Given the description of an element on the screen output the (x, y) to click on. 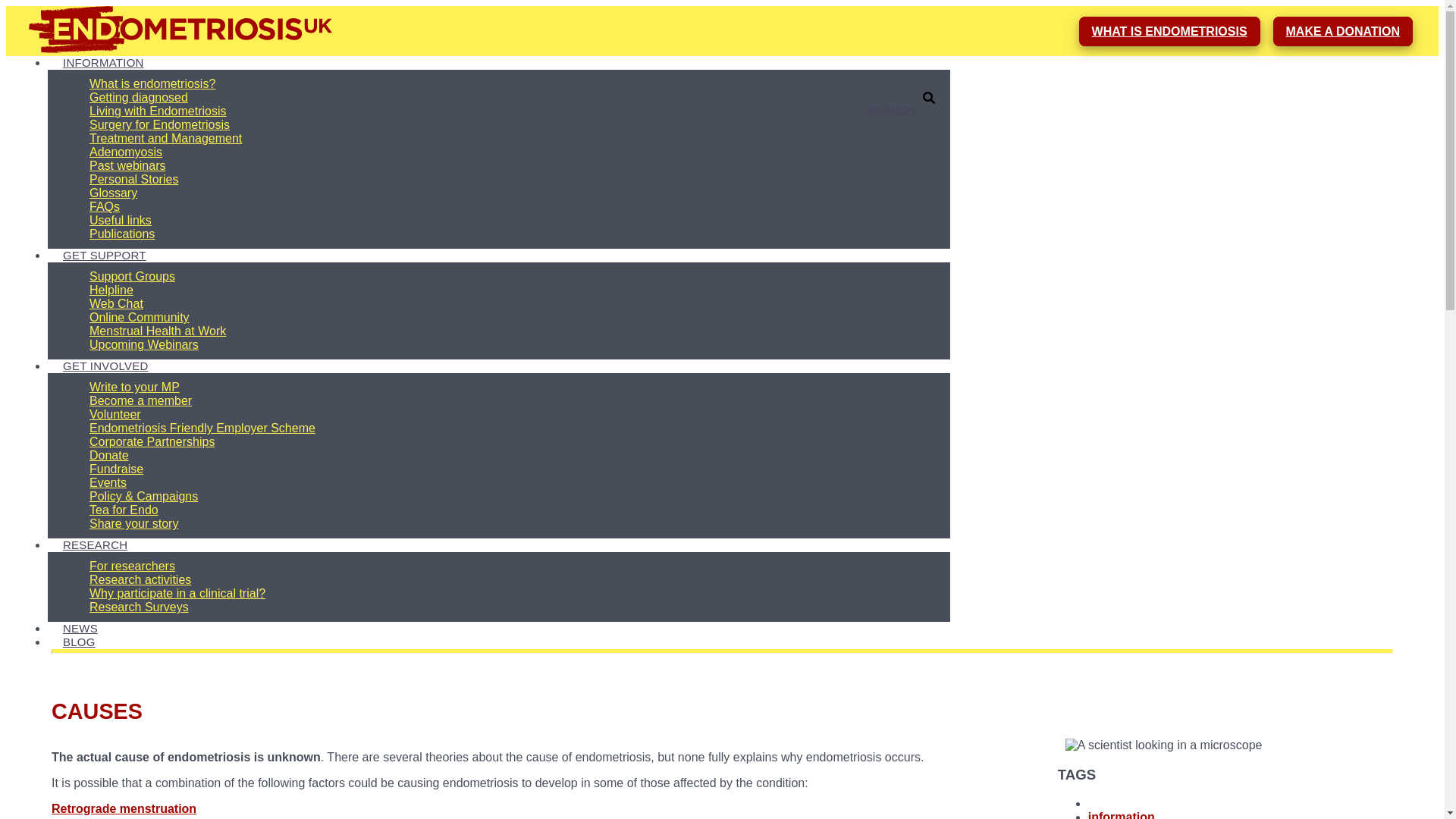
GET SUPPORT (104, 254)
Publications (121, 233)
Useful links (120, 220)
Web Chat (116, 303)
MAKE A DONATION (1342, 30)
What is endometriosis? (152, 83)
For researchers (132, 565)
SEARCH (891, 109)
INFORMATION (103, 62)
Living with Endometriosis (158, 110)
